Given the description of an element on the screen output the (x, y) to click on. 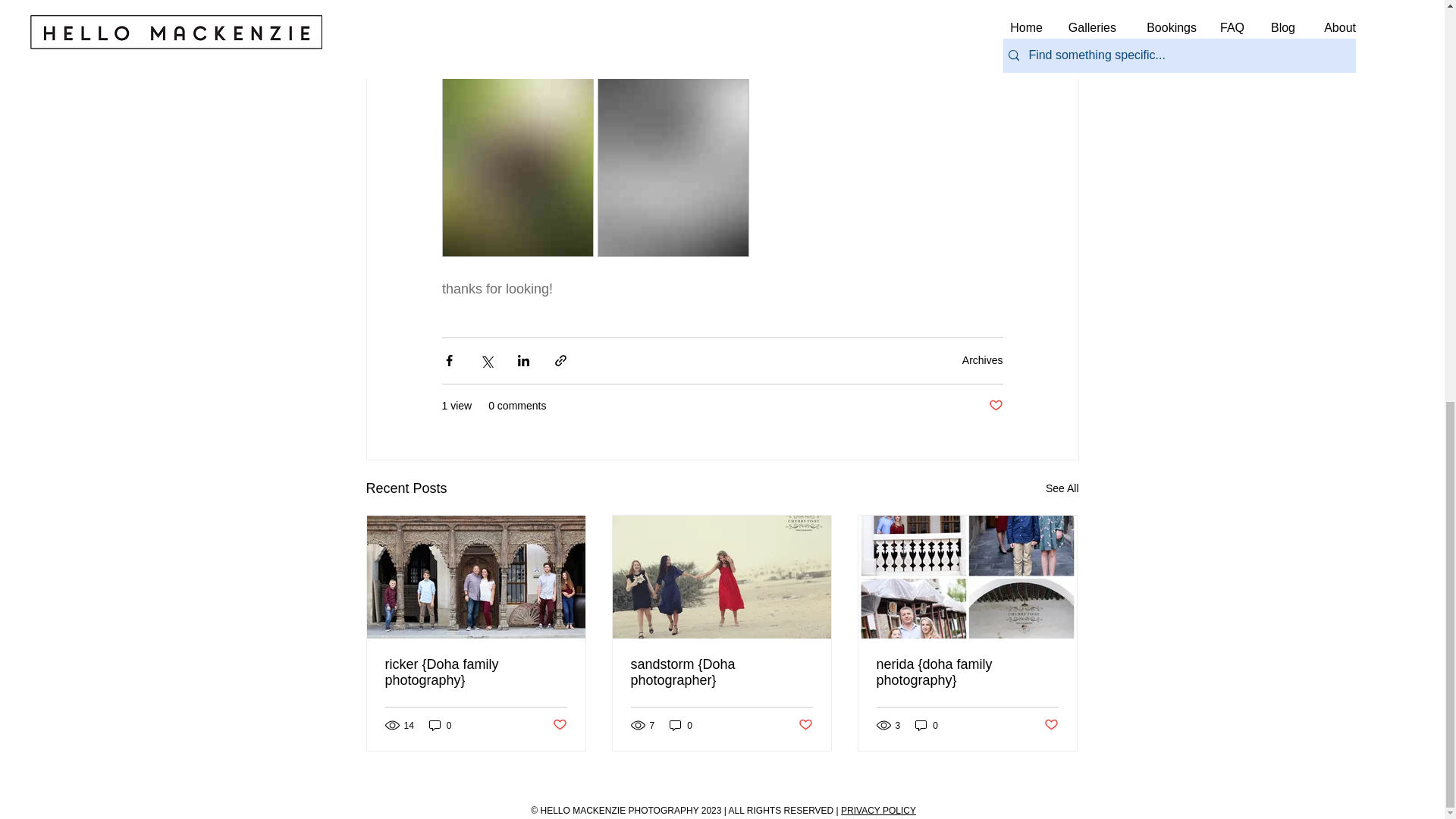
Post not marked as liked (995, 406)
See All (1061, 488)
Archives (982, 359)
